Given the description of an element on the screen output the (x, y) to click on. 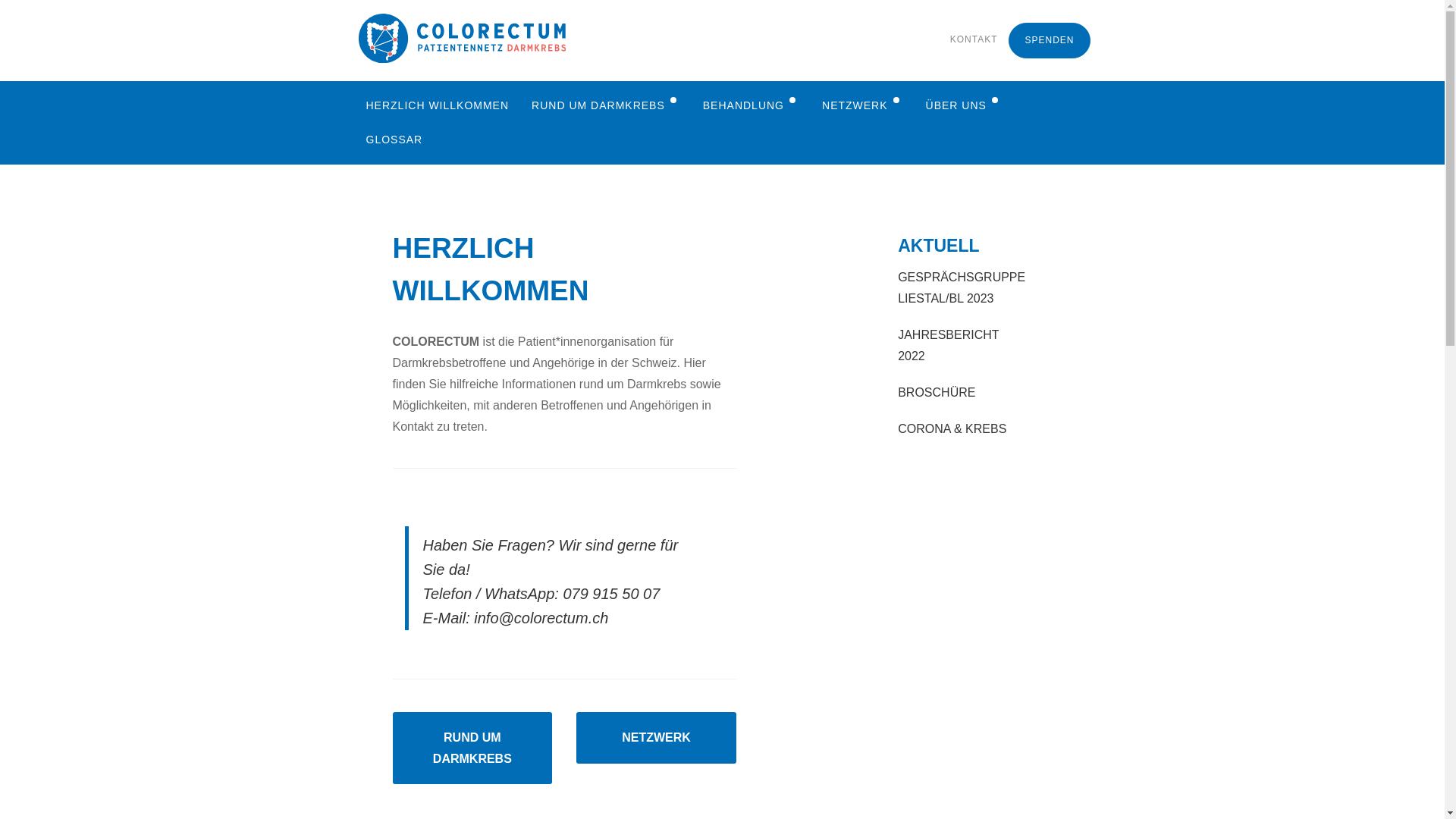
OPERATION Element type: text (747, 139)
TUMOREIGENSCHAFTEN Element type: text (601, 242)
RUND UM DARMKREBS Element type: text (605, 105)
JAHRESBERICHT 2022 Element type: text (955, 345)
KONTAKT Element type: text (959, 310)
DARMKREBSZENTREN SCHWEIZ Element type: text (747, 242)
HERZLICH WILLKOMMEN Element type: text (437, 105)
KONTAKT Element type: text (973, 39)
COLONTOWN Element type: text (858, 173)
TUMORMARKER Element type: text (601, 276)
NETZWERK Element type: text (655, 737)
KLINISCHE STUDIEN Element type: text (747, 276)
VEREIN COLORECTUM Element type: text (959, 208)
STADIENEINTEILUNG Element type: text (601, 208)
IMMUNTHERAPIE Element type: text (839, 276)
SPENDEN Element type: text (1048, 40)
ZIELGERICHTETE THERAPIE Element type: text (839, 242)
NETZWERK Element type: text (862, 105)
CORONA & KREBS Element type: text (955, 428)
CHEMOTHERAPIE Element type: text (839, 208)
RUND UM DARMKREBS Element type: text (472, 747)
KOLOREKTALKARZINOM Element type: text (601, 139)
TNM-KLASSIFIKATION Element type: text (601, 173)
GLOSSAR Element type: text (394, 139)
BEHANDLUNG Element type: text (750, 105)
VORSTAND Element type: text (959, 139)
BESTRAHLUNG Element type: text (747, 173)
MITGLIED WERDEN Element type: text (959, 242)
